Given the description of an element on the screen output the (x, y) to click on. 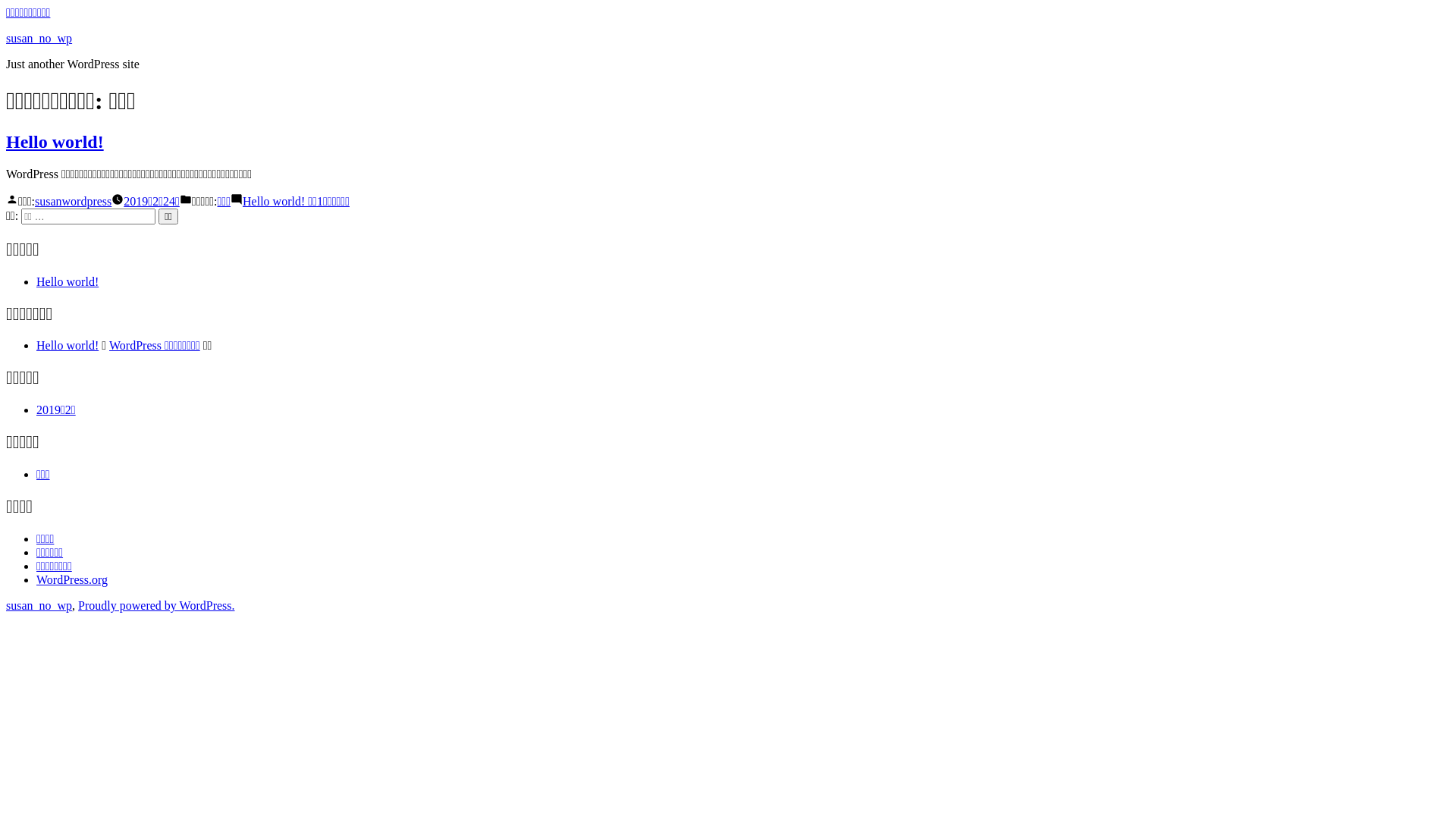
Hello world! Element type: text (67, 344)
susan_no_wp Element type: text (39, 605)
susanwordpress Element type: text (72, 200)
Hello world! Element type: text (67, 281)
WordPress.org Element type: text (71, 579)
Hello world! Element type: text (54, 141)
Proudly powered by WordPress. Element type: text (156, 605)
susan_no_wp Element type: text (39, 37)
